Given the description of an element on the screen output the (x, y) to click on. 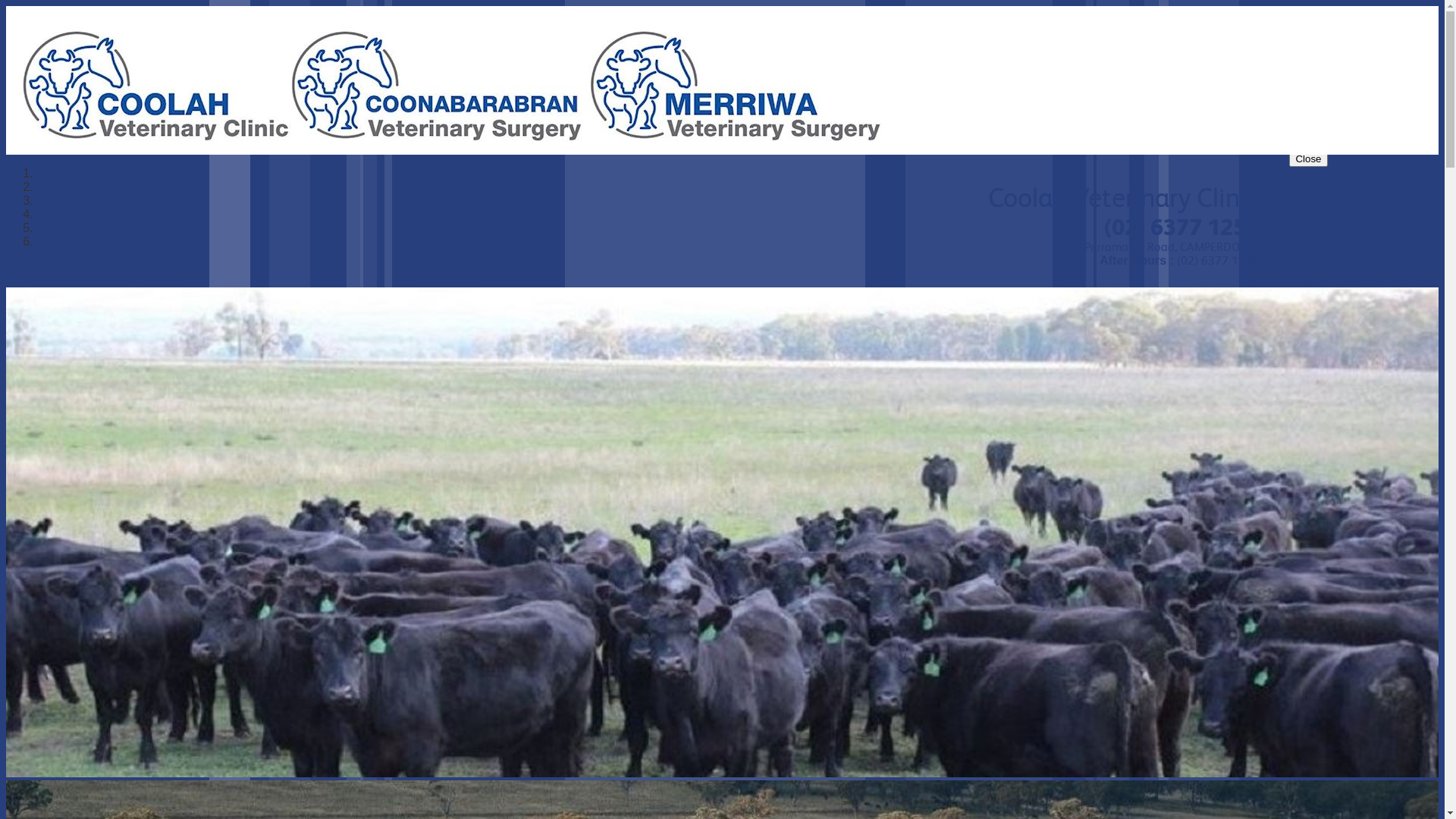
(02) 6377 1258 Element type: text (1181, 226)
(02) 6377 1258 Element type: text (1217, 260)
Close Element type: text (1308, 158)
